Given the description of an element on the screen output the (x, y) to click on. 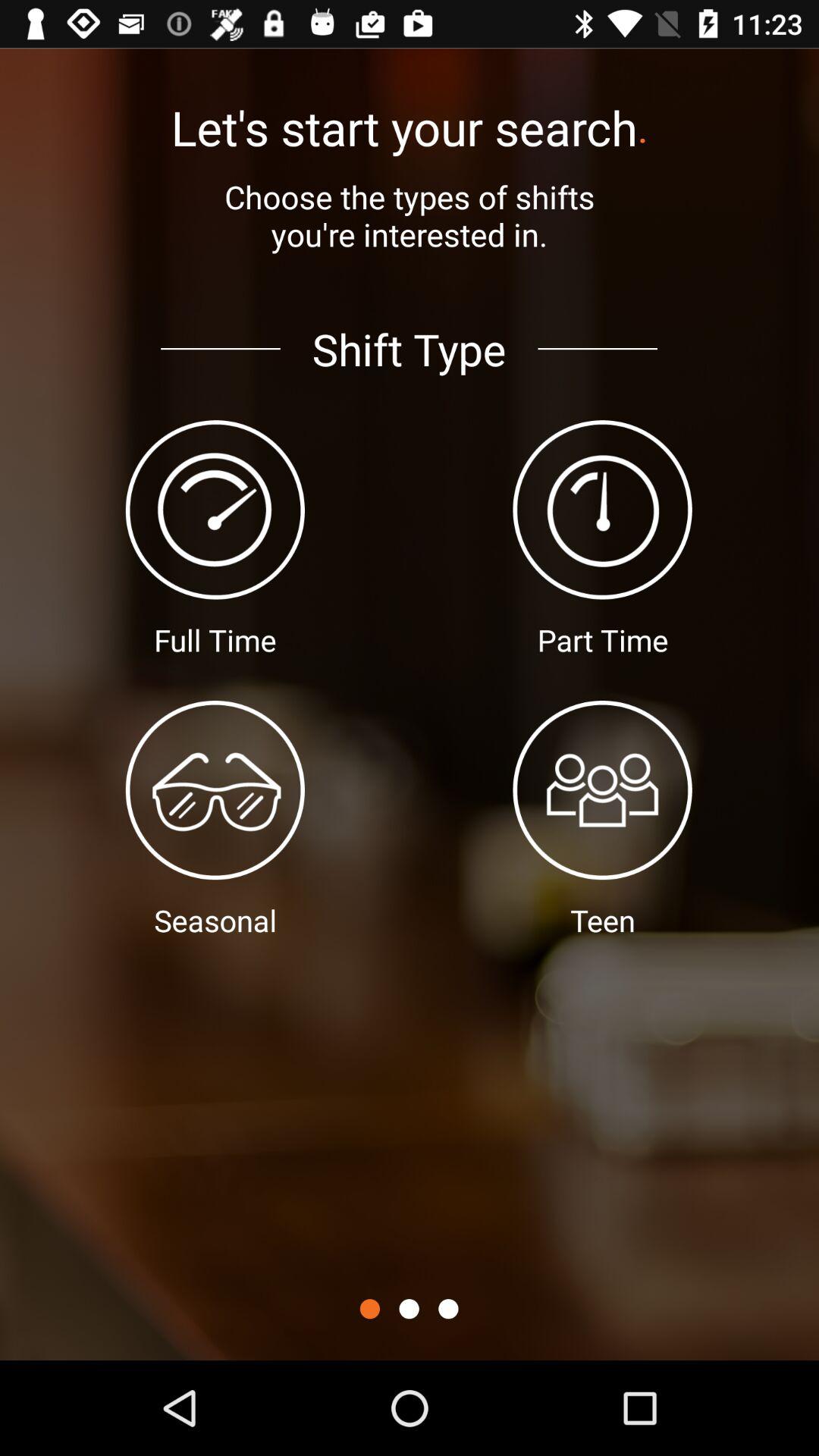
go to last page (448, 1308)
